Given the description of an element on the screen output the (x, y) to click on. 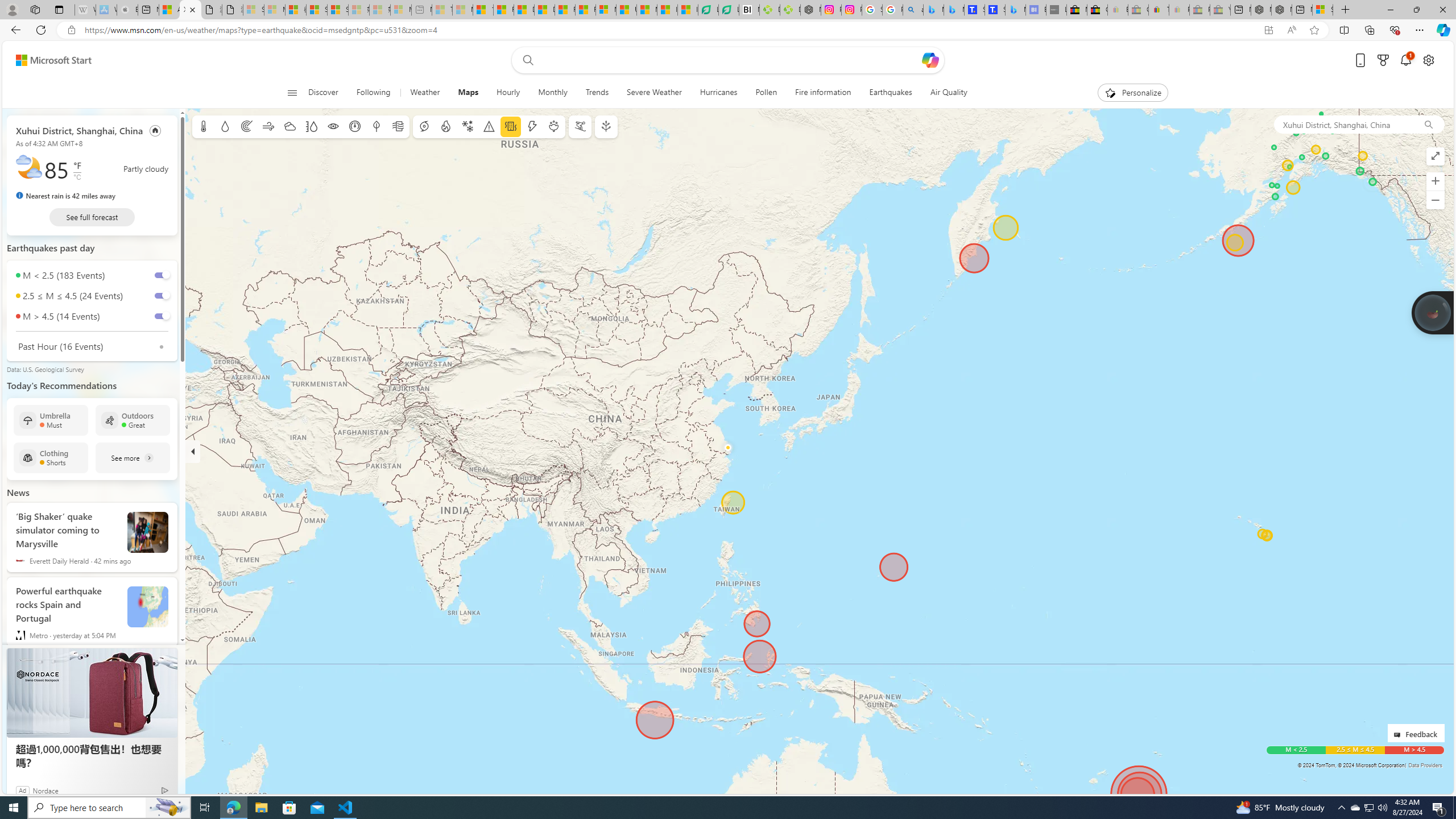
Open navigation menu (292, 92)
Fire information (823, 92)
Air quality (397, 126)
Hide (192, 450)
Earthquake (510, 126)
Monthly (552, 92)
Open settings (1427, 60)
Hourly (508, 92)
Nearest rain is 42 miles away (65, 195)
Class: feedback_link_icon-DS-EntryPoint1-1 (1399, 734)
